Given the description of an element on the screen output the (x, y) to click on. 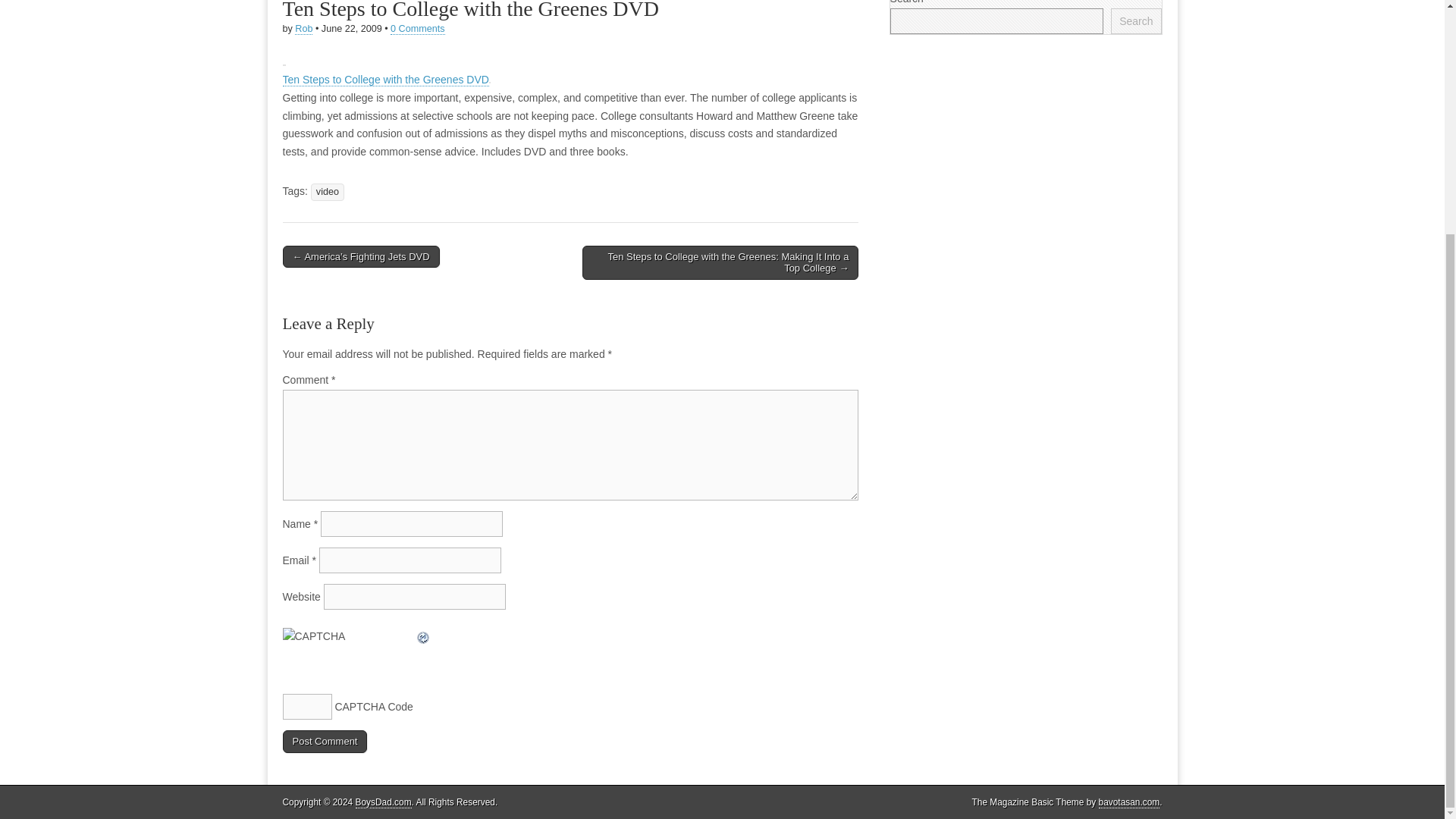
CAPTCHA (348, 649)
video (327, 191)
BoysDad.com (383, 802)
Search (1135, 21)
Rob (304, 29)
Post Comment (324, 741)
bavotasan.com (1129, 802)
Posts by Rob (304, 29)
0 Comments (417, 29)
Ten Steps to College with the Greenes DVD (384, 79)
Refresh (423, 635)
Post Comment (324, 741)
